Given the description of an element on the screen output the (x, y) to click on. 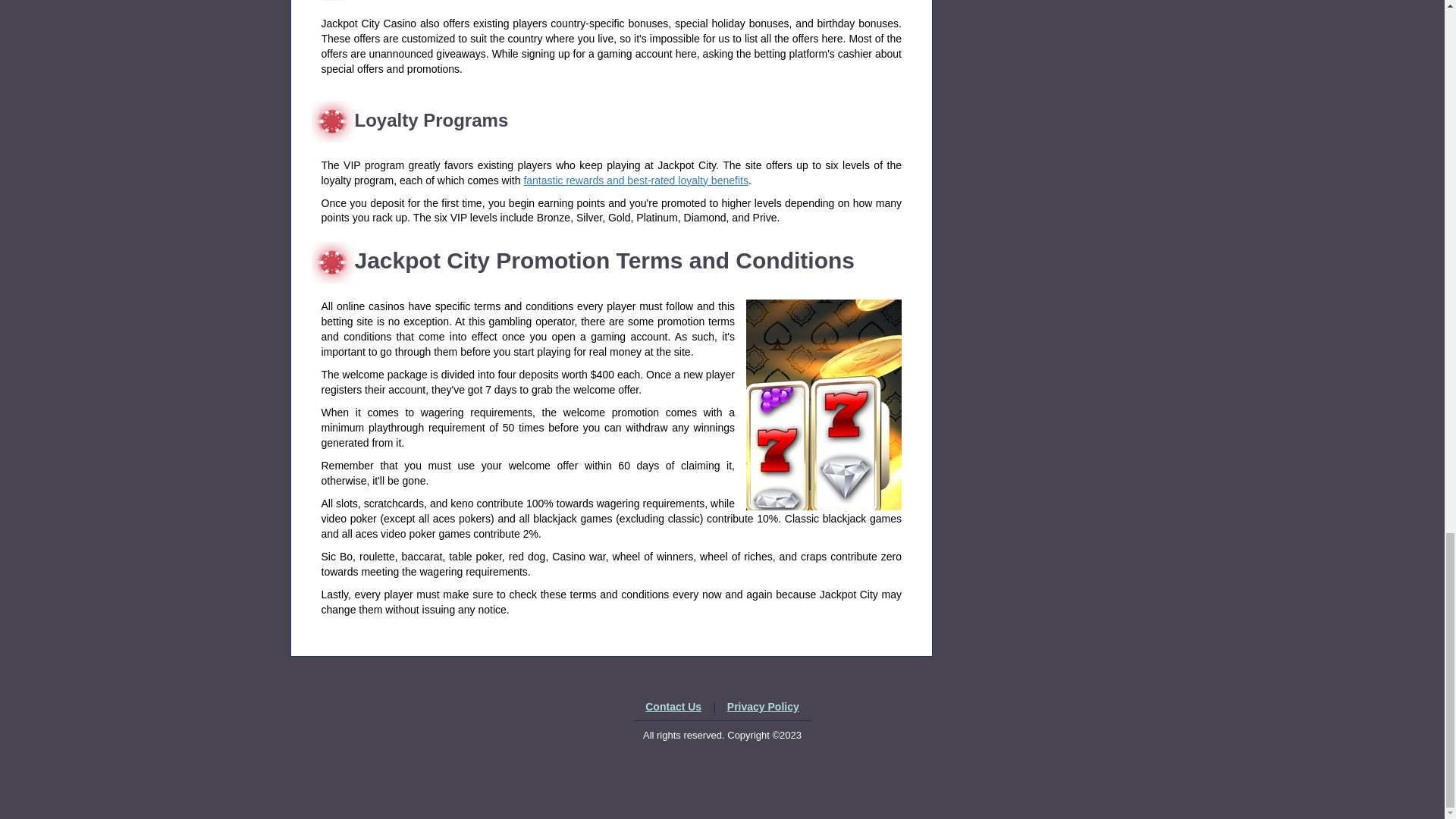
Contact Us (673, 707)
fantastic rewards and best-rated loyalty benefits (635, 180)
Privacy Policy (763, 707)
